Given the description of an element on the screen output the (x, y) to click on. 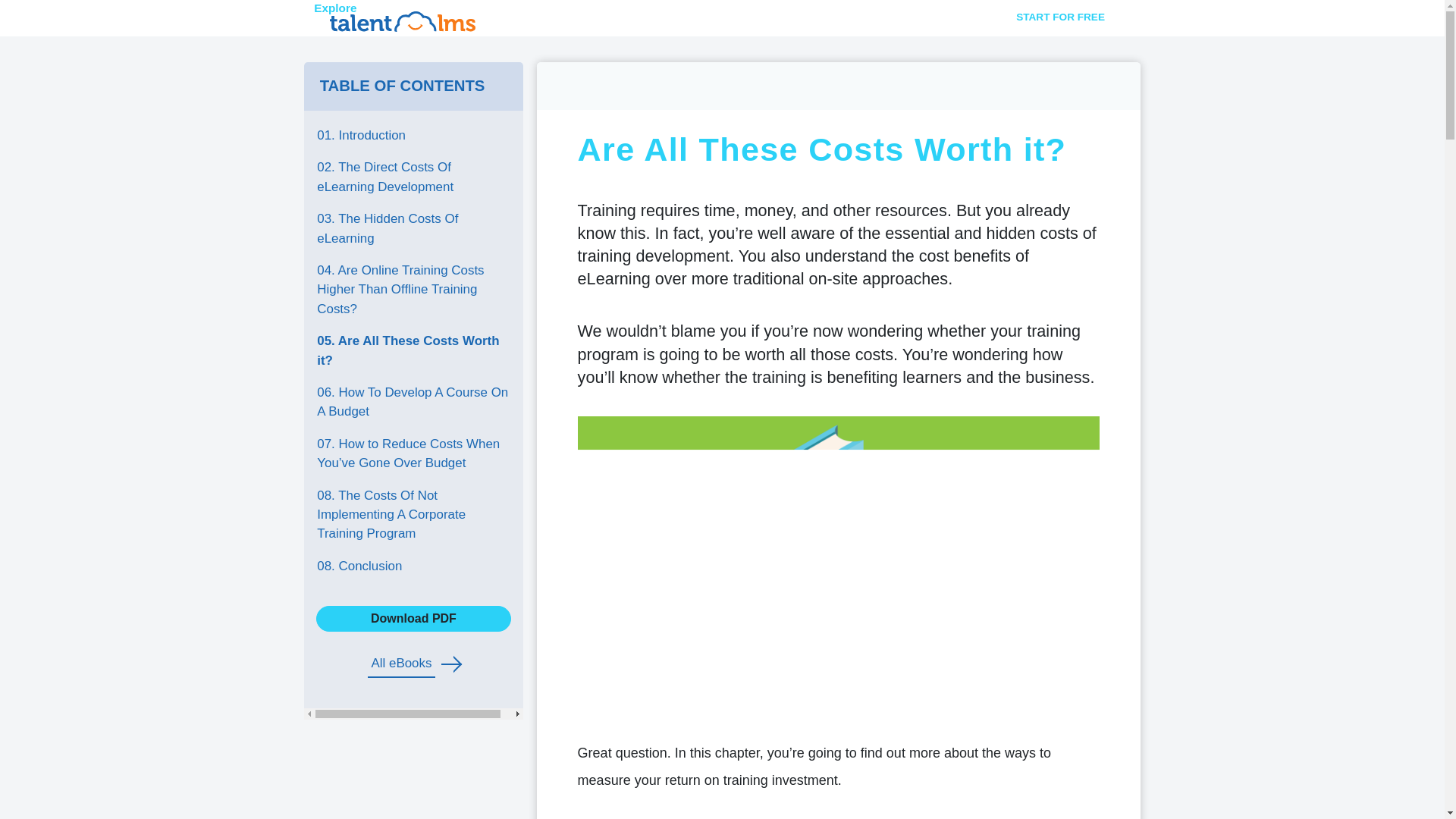
START FOR FREE (1060, 16)
01. Introduction (413, 135)
08. Conclusion (413, 565)
Explore (403, 17)
03. The Hidden Costs Of eLearning (413, 228)
02. The Direct Costs Of eLearning Development (413, 177)
Download PDF (413, 618)
06. How To Develop A Course On A Budget (413, 402)
